Given the description of an element on the screen output the (x, y) to click on. 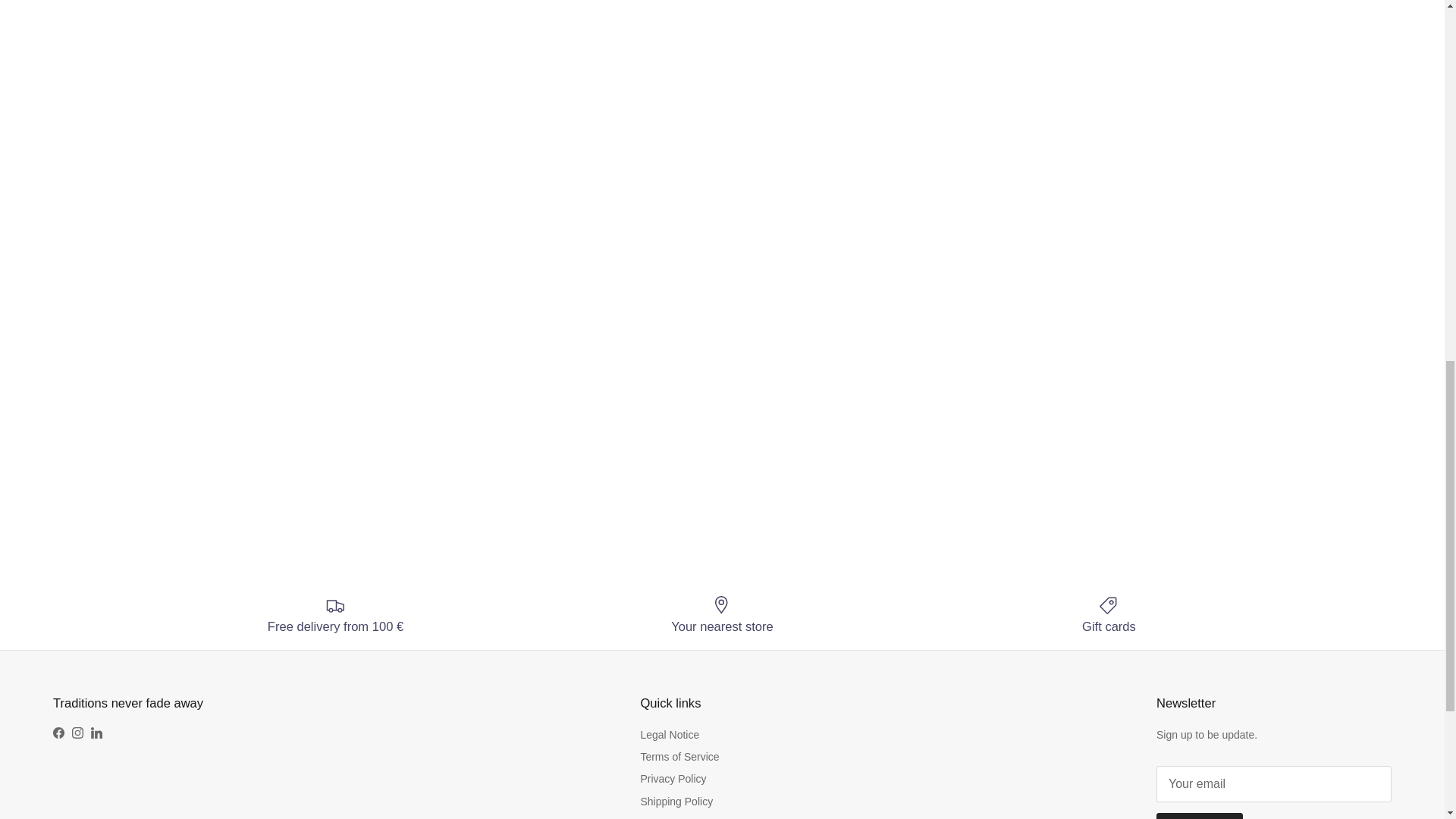
BoUvy on Instagram (76, 732)
BoUvy on LinkedIn (95, 732)
BoUvy on Facebook (58, 732)
